Given the description of an element on the screen output the (x, y) to click on. 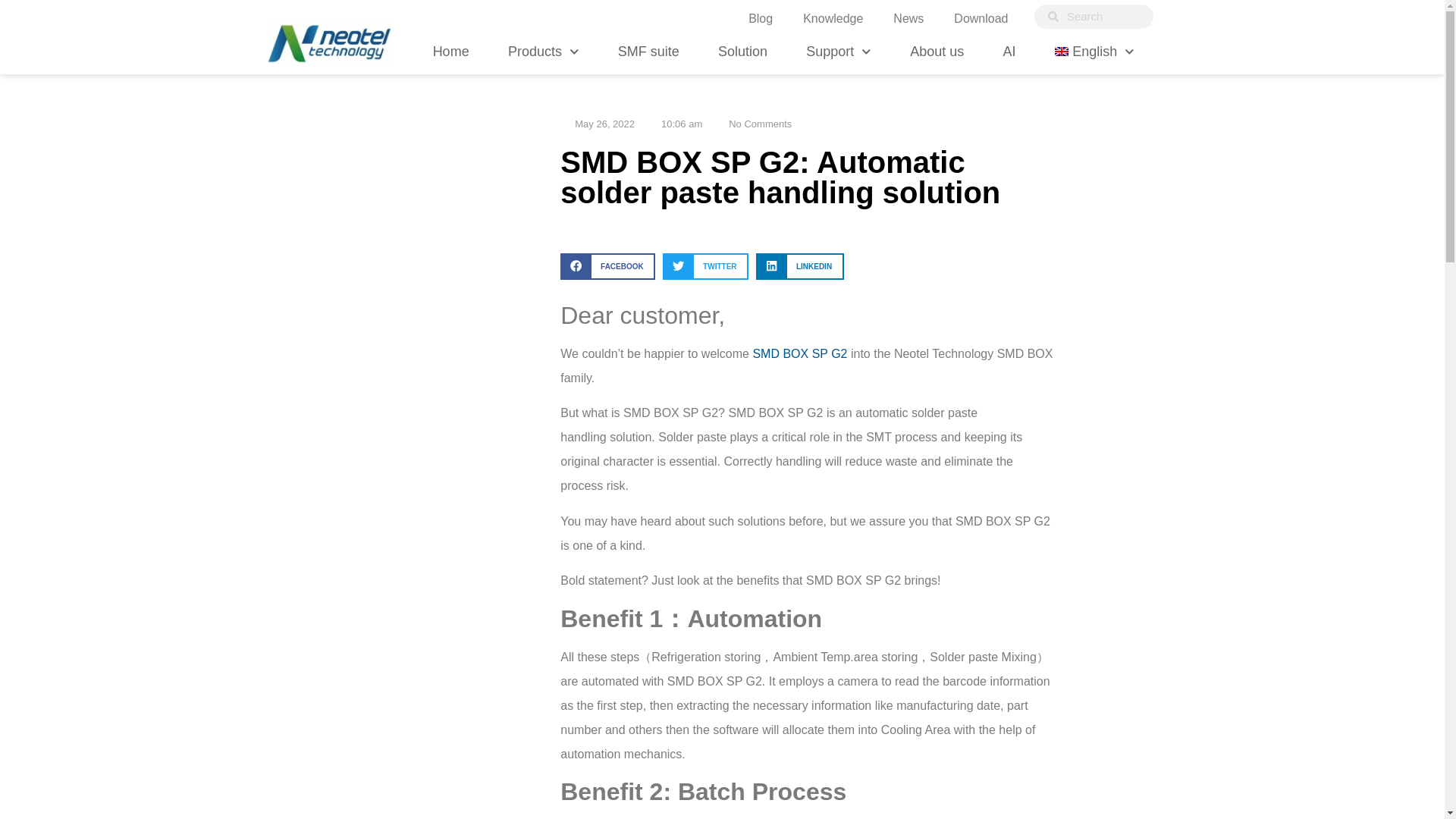
Products (543, 51)
Knowledge (832, 18)
News (908, 18)
Download (981, 18)
English (1094, 51)
About us (936, 51)
English (1094, 51)
Neotel Logo (328, 42)
SMF suite (648, 51)
Solution (742, 51)
Home (451, 51)
Support (838, 51)
AI (1008, 51)
Blog (760, 18)
